Given the description of an element on the screen output the (x, y) to click on. 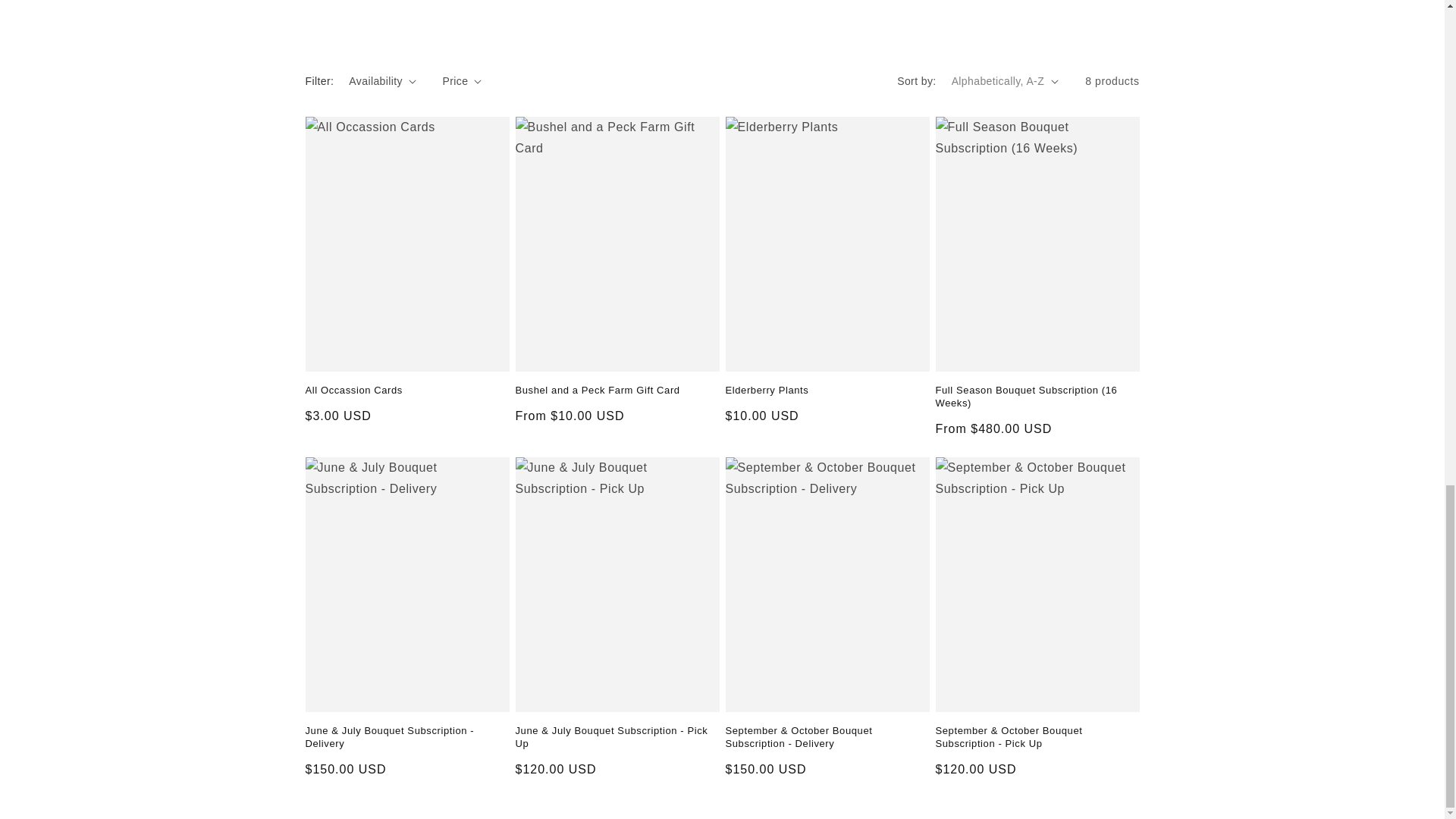
All Occassion Cards (406, 390)
